Given the description of an element on the screen output the (x, y) to click on. 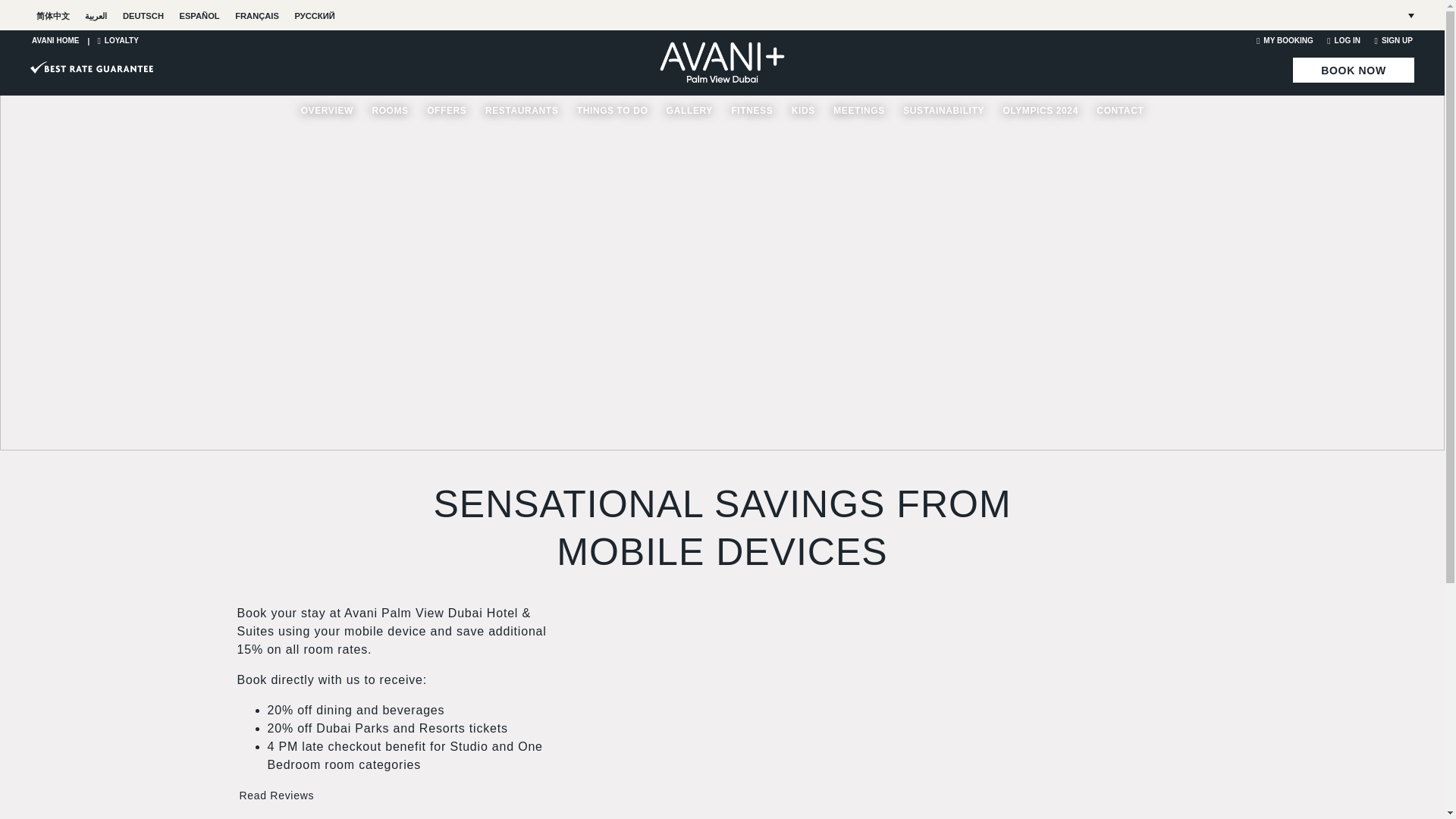
MY BOOKING (1284, 40)
BOOK NOW (1352, 69)
LOYALTY (117, 40)
DEUTSCH (142, 16)
LOG IN (1342, 40)
SIGN UP (1393, 40)
BEST RATE GUARANTEE (91, 66)
AVANI HOME (55, 40)
